Given the description of an element on the screen output the (x, y) to click on. 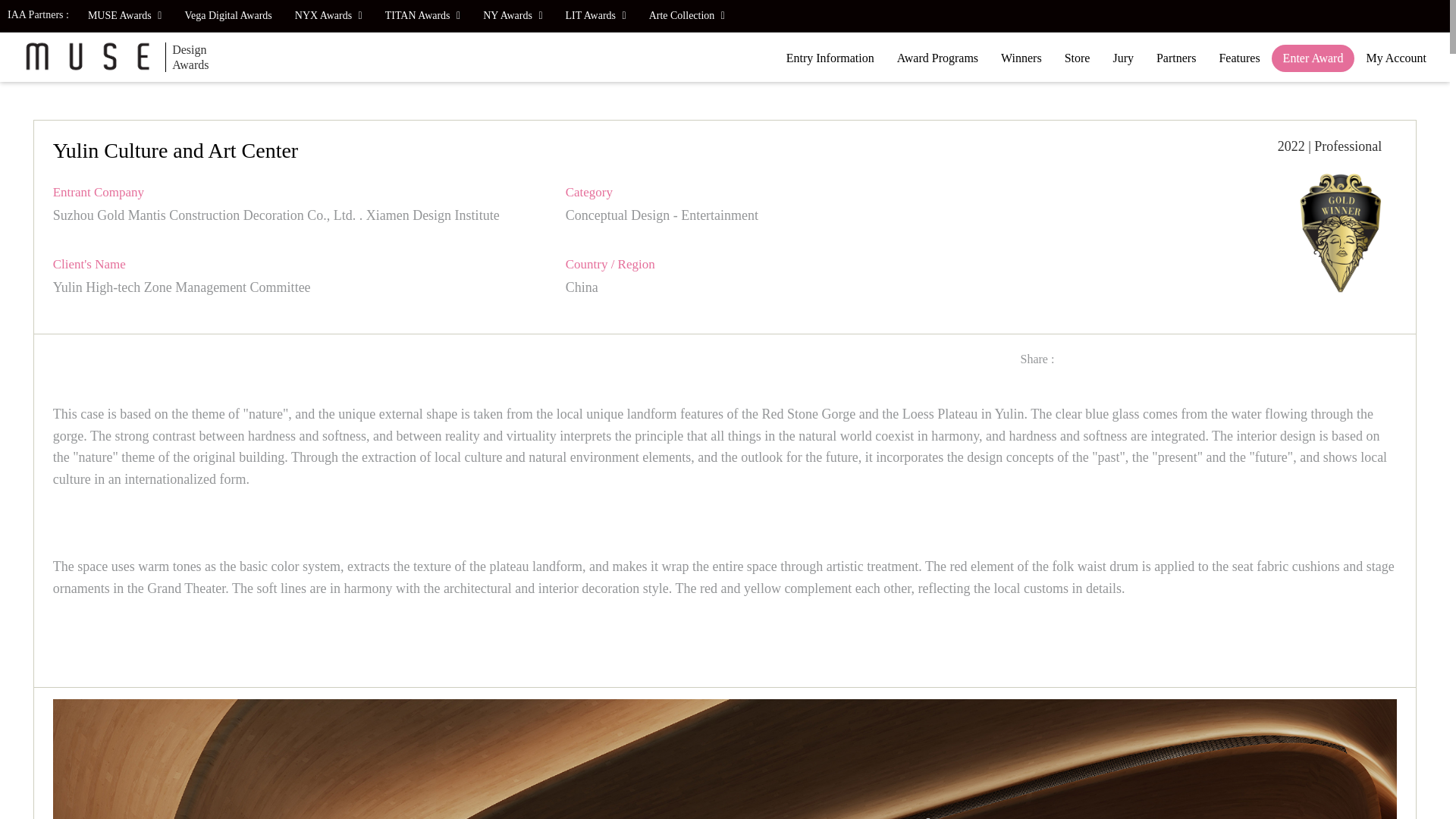
LIT Awards (595, 15)
Arte Collection (686, 15)
MUSE Awards (125, 15)
Vega Digital Awards (227, 15)
Entry Information (829, 58)
TITAN Awards (422, 15)
NY Awards (512, 15)
NYX Awards (328, 15)
